Given the description of an element on the screen output the (x, y) to click on. 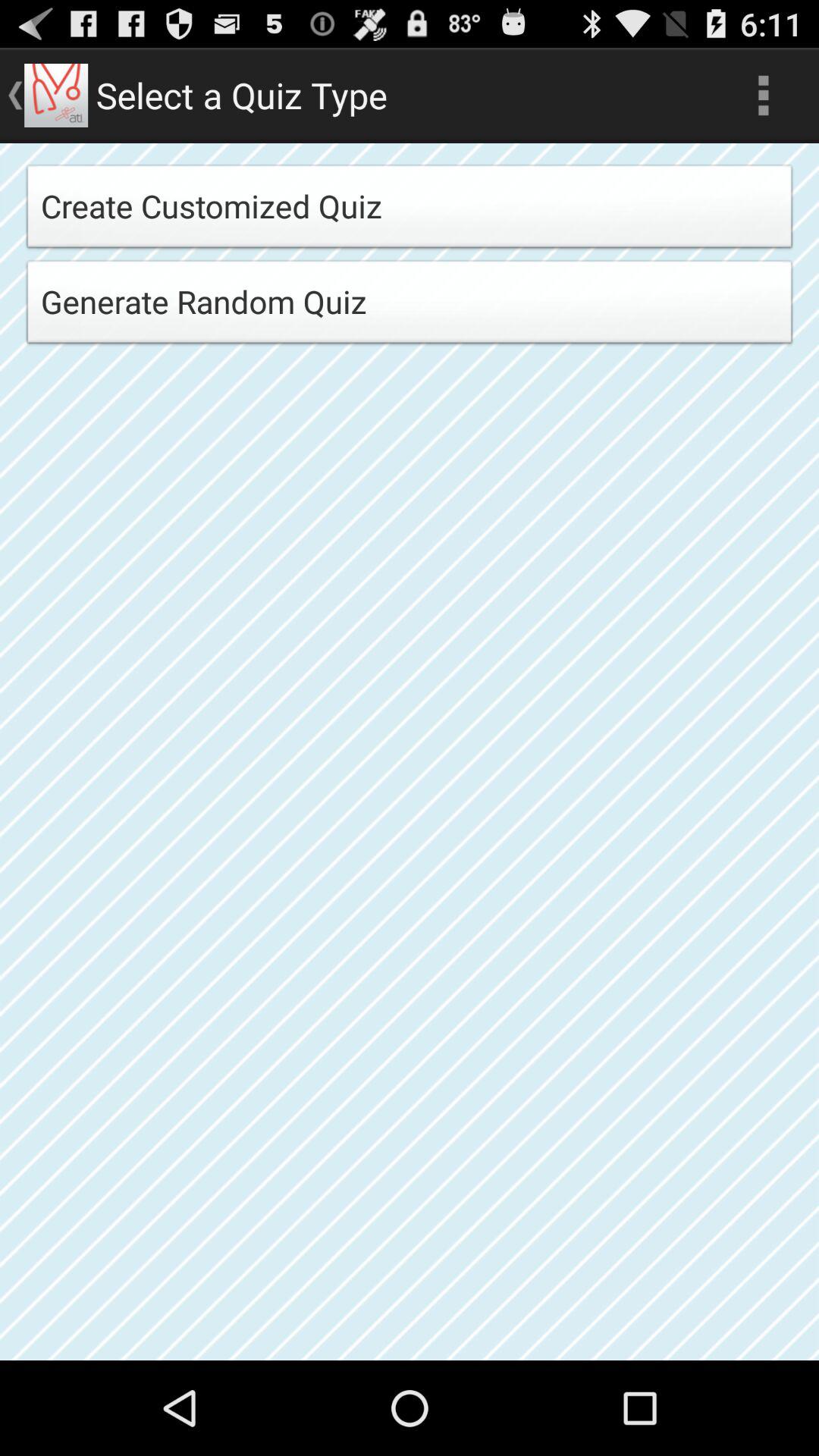
open the app next to select a quiz app (763, 95)
